Given the description of an element on the screen output the (x, y) to click on. 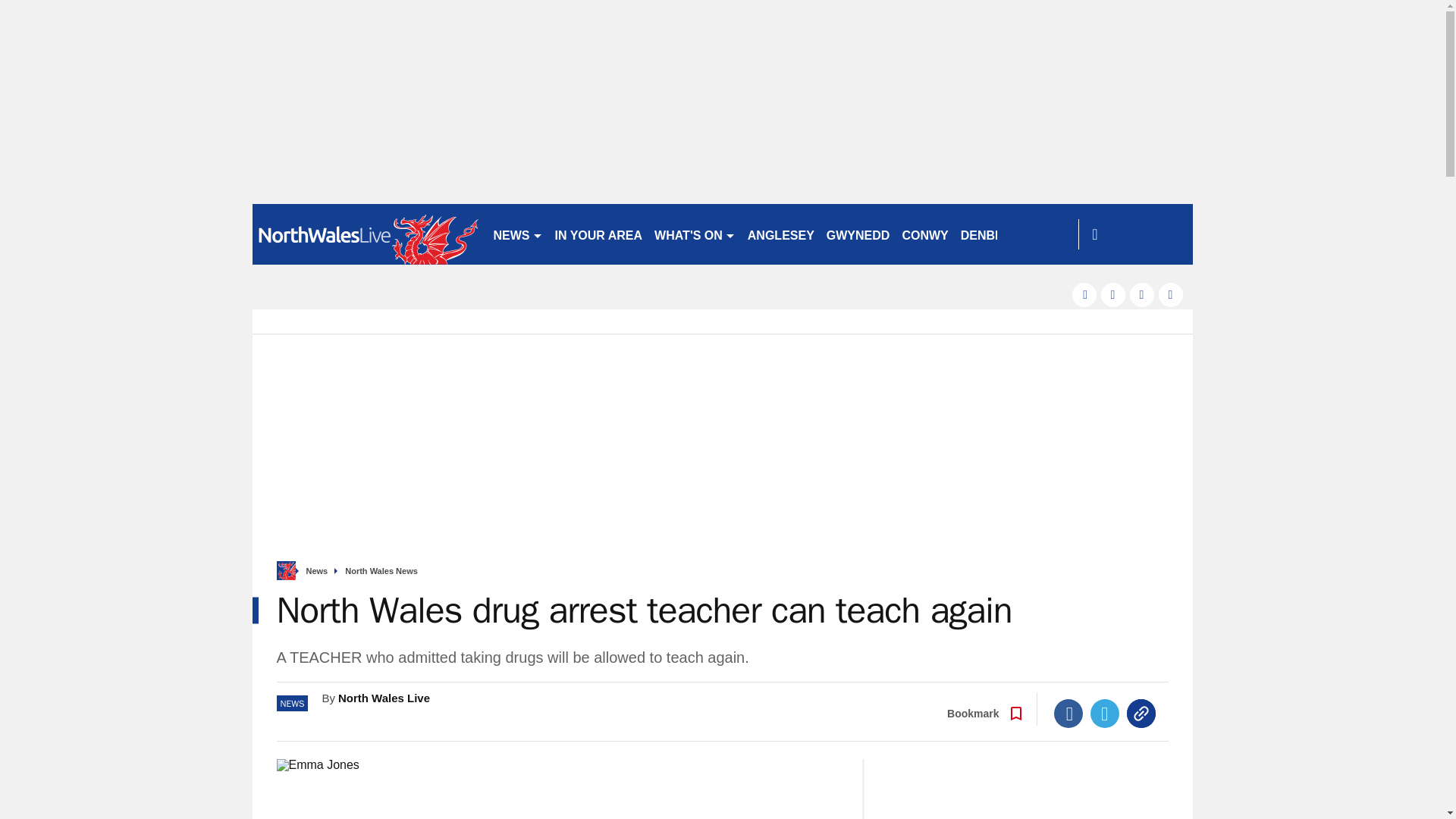
instagram (1170, 294)
ANGLESEY (781, 233)
northwales (365, 233)
WHAT'S ON (694, 233)
IN YOUR AREA (598, 233)
CONWY (924, 233)
twitter (1112, 294)
NEWS (517, 233)
Facebook (1068, 713)
facebook (1083, 294)
